Given the description of an element on the screen output the (x, y) to click on. 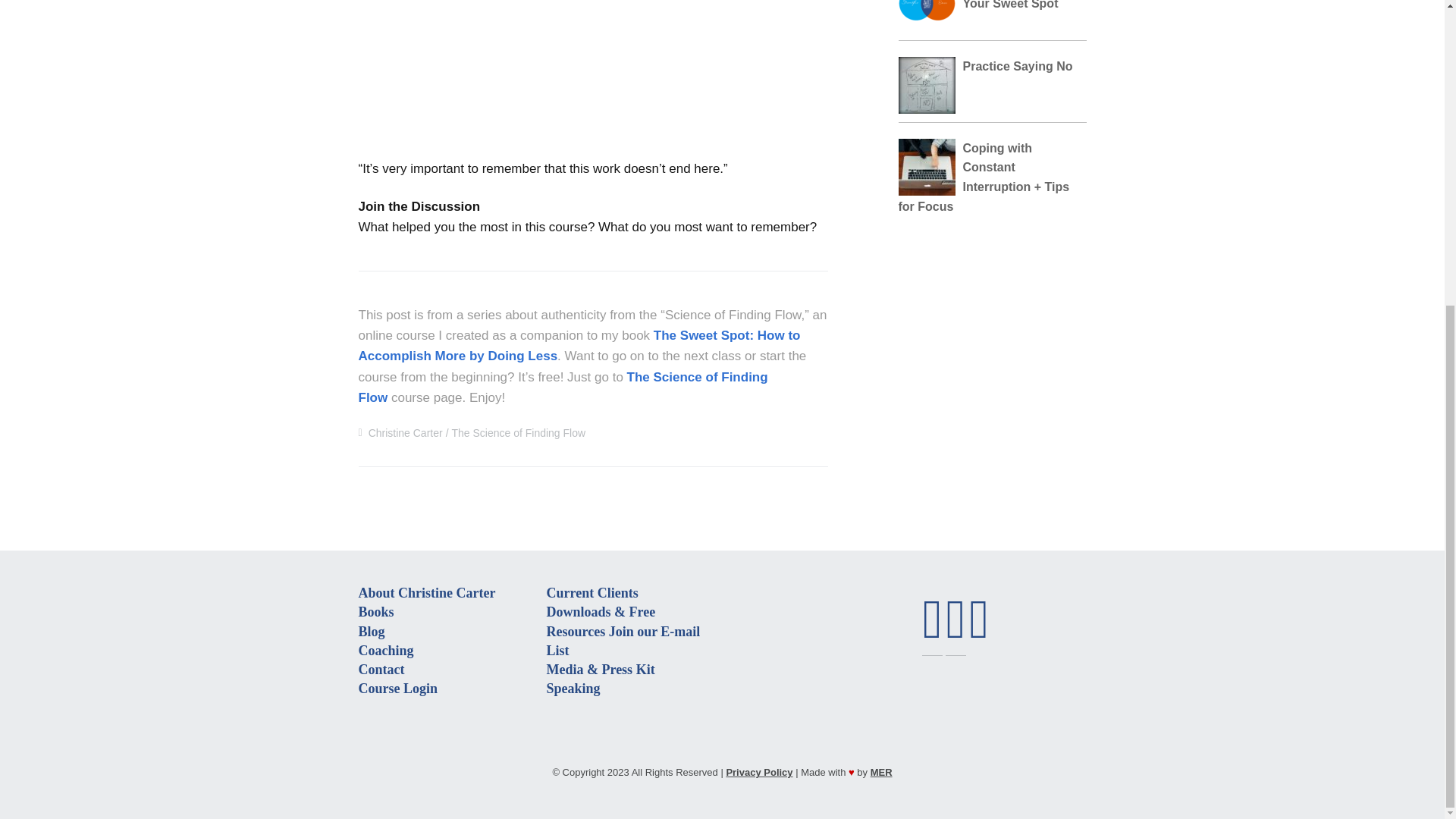
The Science of Finding Flow (562, 387)
3 Easy Ways to Find Your Sweet Spot (1021, 5)
The Science of Finding Flow (518, 432)
Practice Saying No (1017, 65)
The Sweet Spot: How to Accomplish More by Doing Less (578, 345)
Books (375, 611)
About Christine Carter (426, 592)
Christine Carter (405, 432)
